Given the description of an element on the screen output the (x, y) to click on. 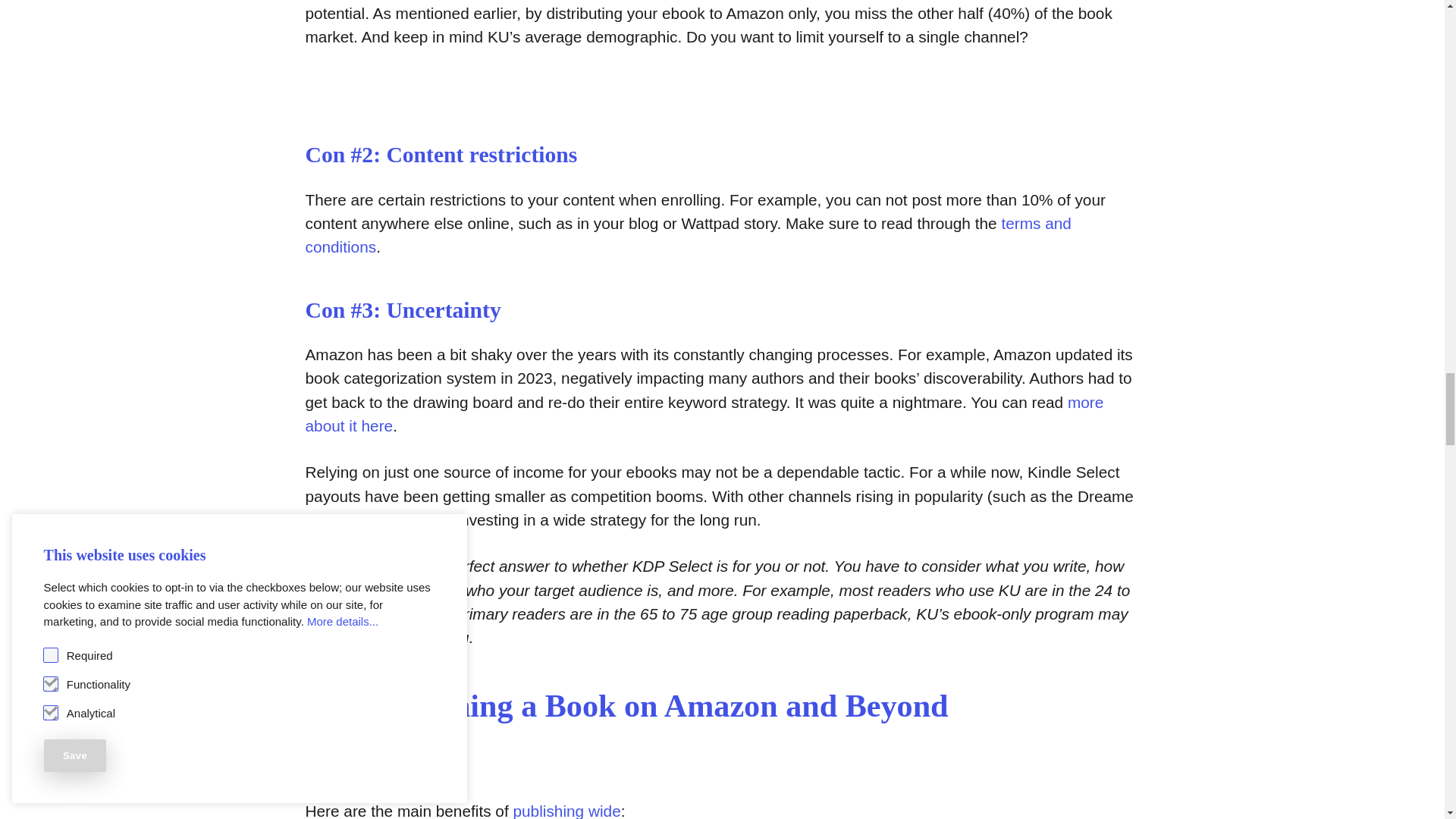
publishing wide (566, 810)
terms and conditions (687, 234)
more about it here (703, 413)
